Given the description of an element on the screen output the (x, y) to click on. 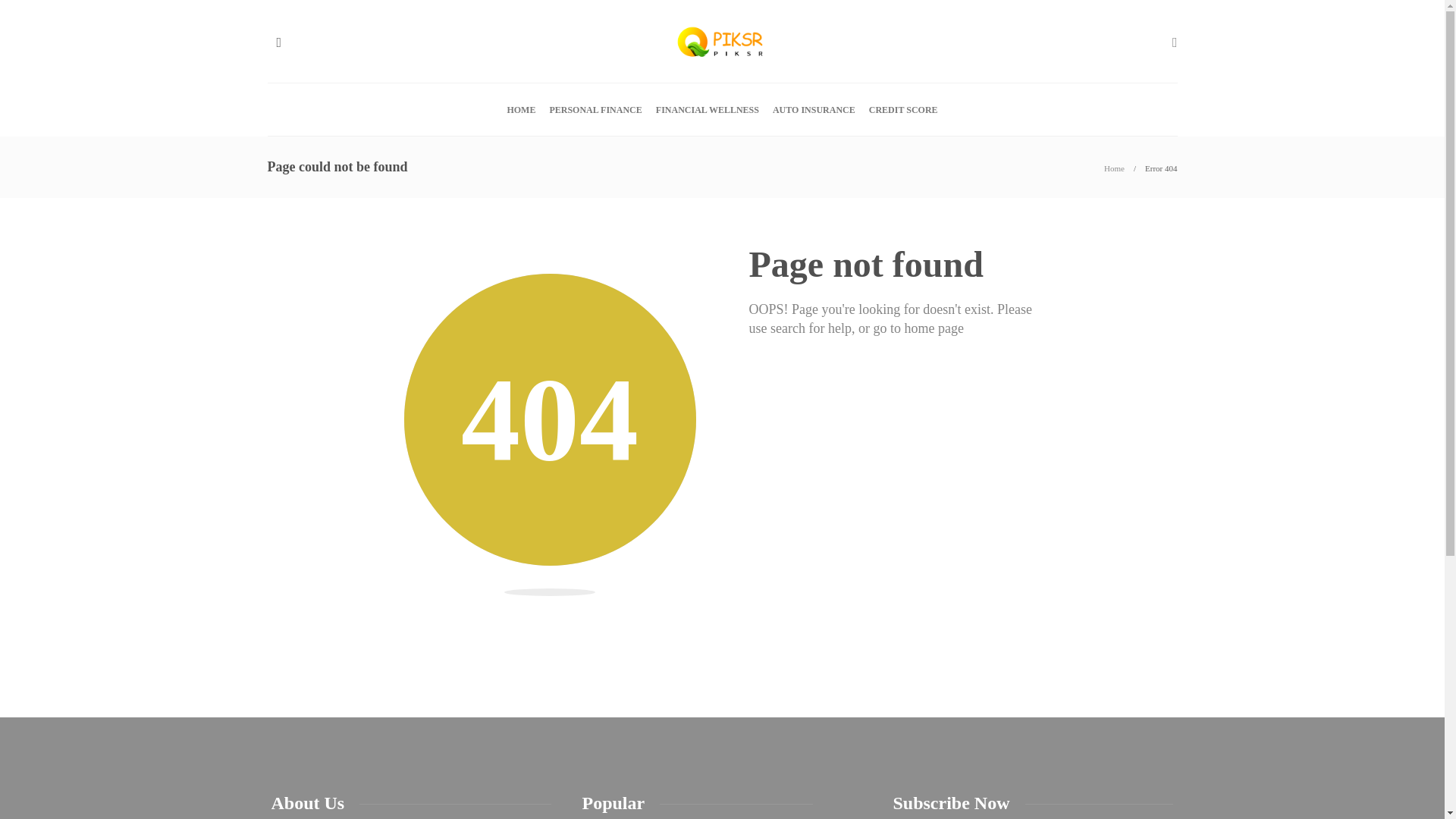
CREDIT SCORE (903, 109)
Home (1113, 167)
Home (1113, 167)
AUTO INSURANCE (814, 109)
FINANCIAL WELLNESS (707, 109)
PERSONAL FINANCE (595, 109)
